Given the description of an element on the screen output the (x, y) to click on. 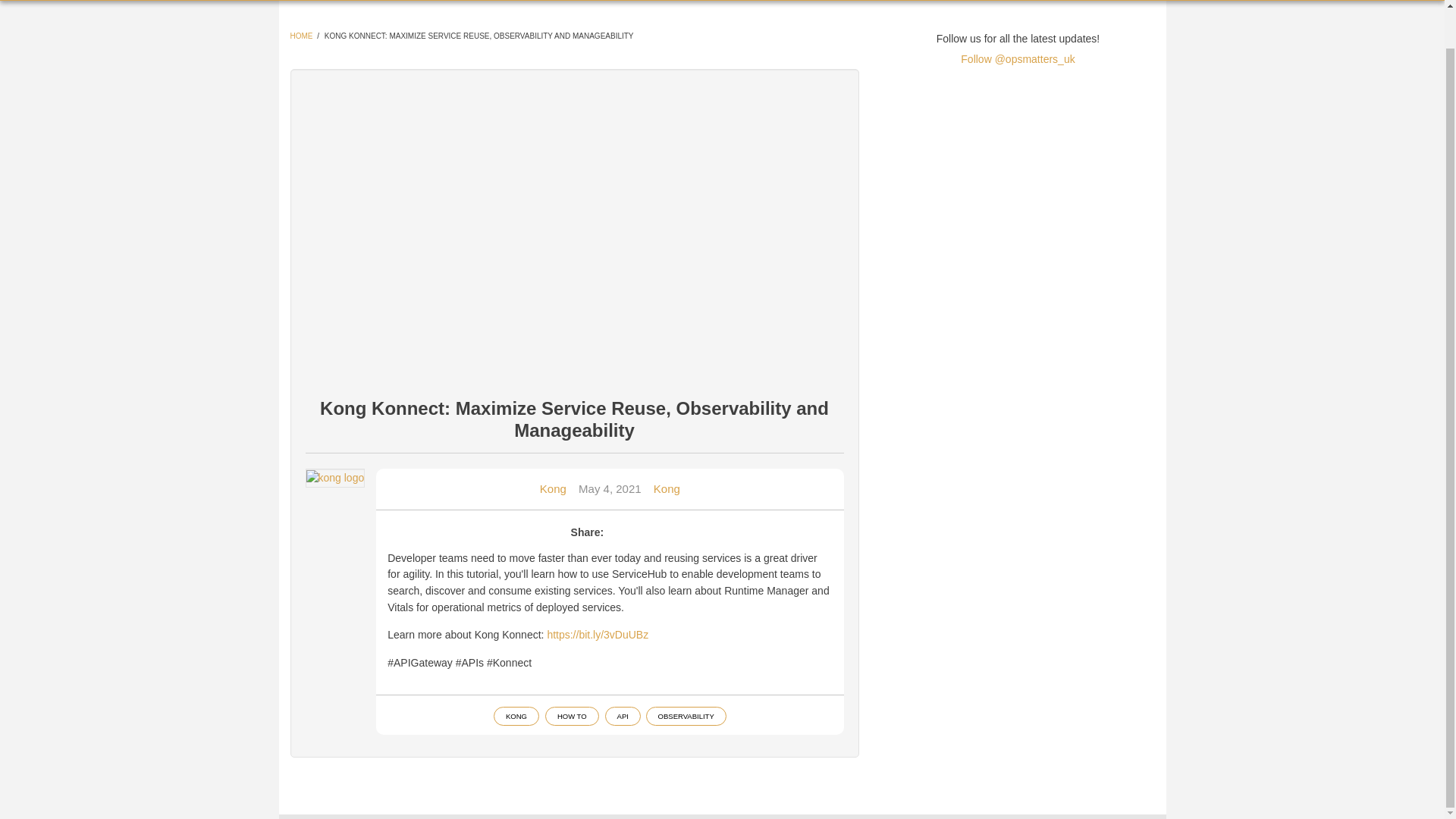
HOME (301, 35)
Kong (666, 488)
kong logo (335, 478)
Kong (553, 488)
KONG (515, 716)
